Given the description of an element on the screen output the (x, y) to click on. 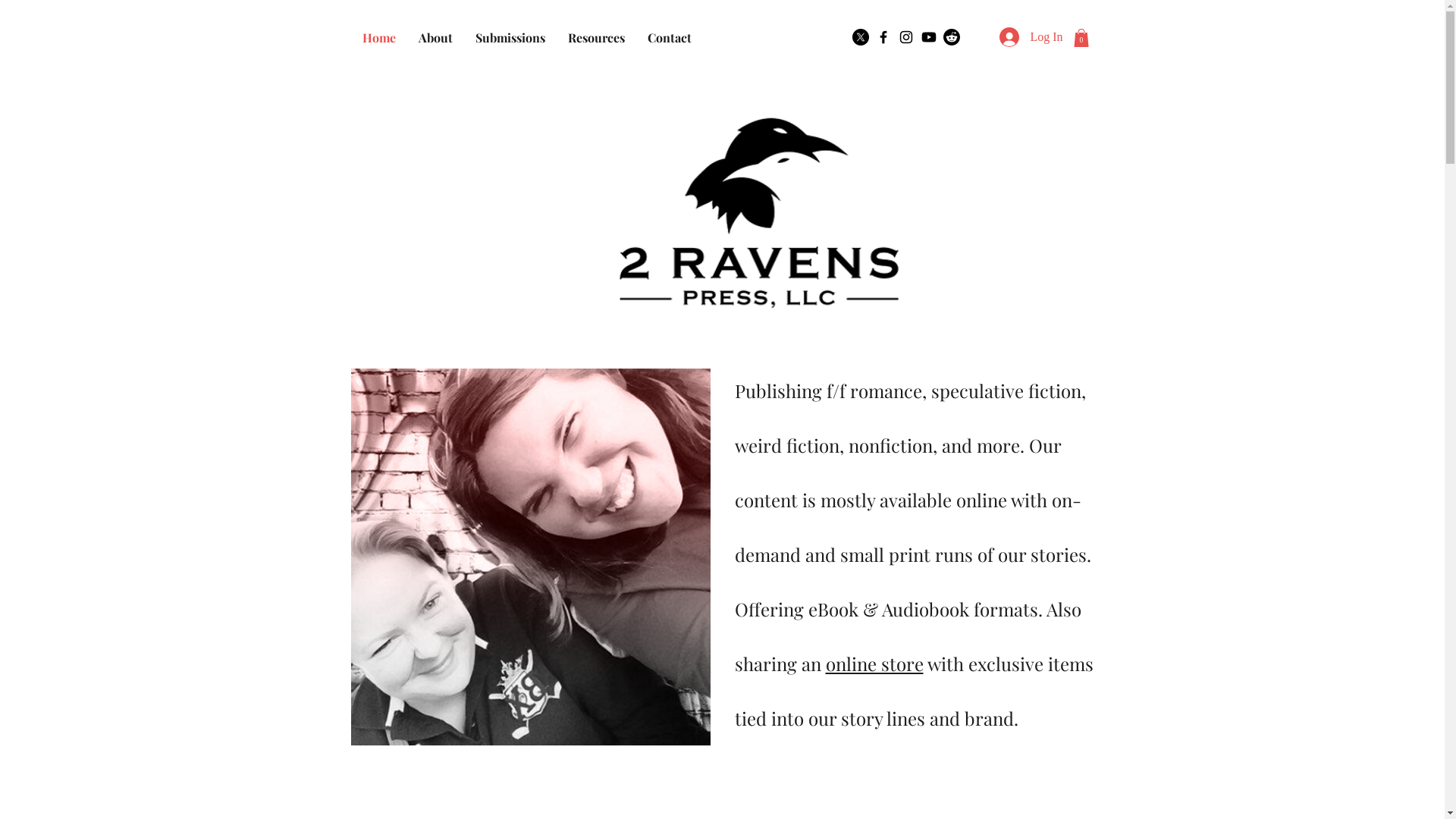
Log In Element type: text (1030, 36)
online store Element type: text (873, 663)
Home Element type: text (378, 37)
Yes, we have a sense of humor. Element type: hover (529, 556)
2ravenspress-logo Element type: hover (757, 197)
About Element type: text (434, 37)
Contact Element type: text (668, 37)
Meta Data ld+json Element type: hover (437, 197)
0 Element type: text (1080, 37)
Submissions Element type: text (510, 37)
Resources Element type: text (596, 37)
